Given the description of an element on the screen output the (x, y) to click on. 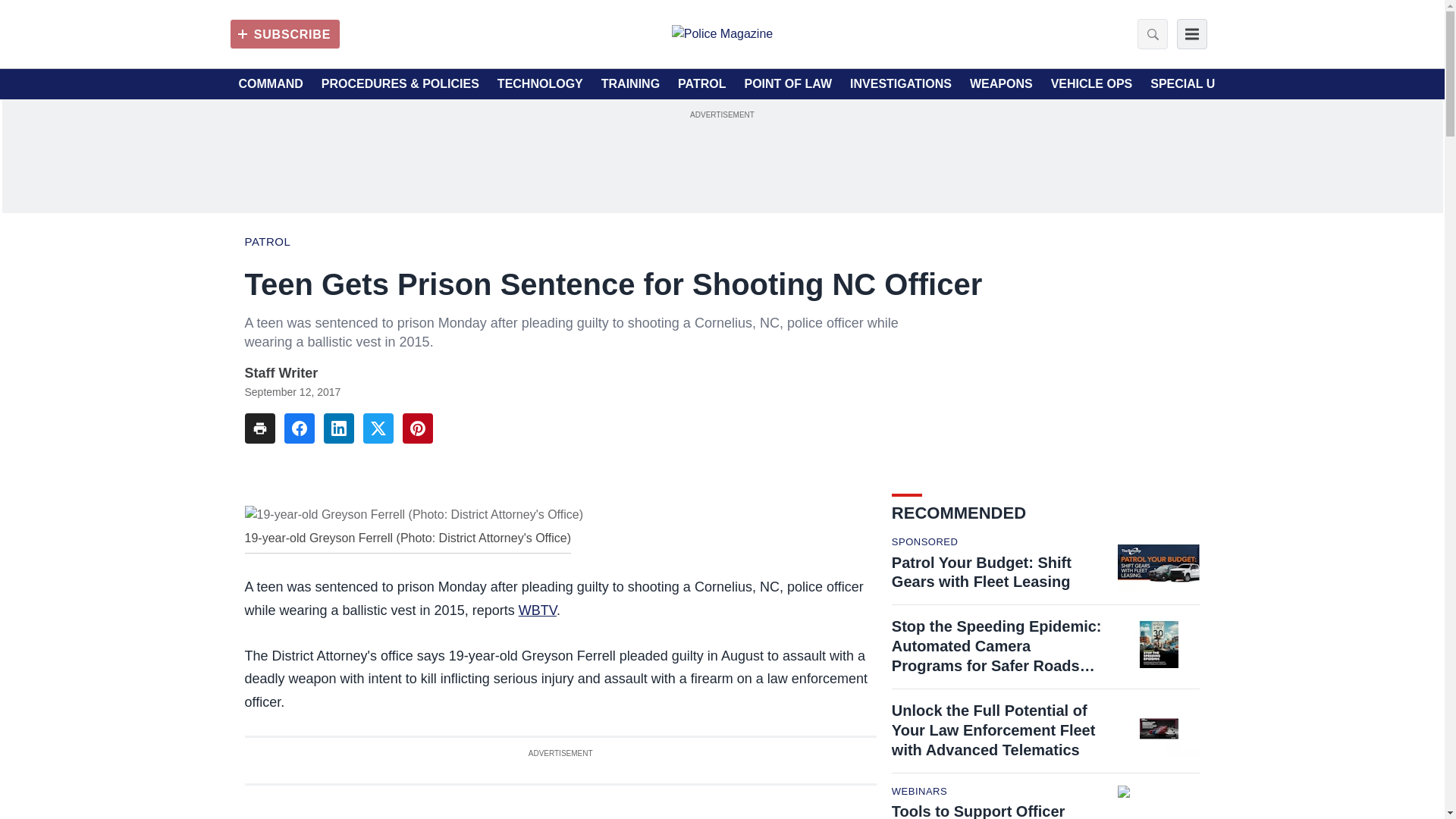
Share To linkedin (338, 428)
Share To print (259, 428)
Sponsored (924, 542)
TECHNOLOGY (540, 84)
DIRECTORY (1296, 84)
PATROL (701, 84)
WEAPONS (1000, 84)
SPECIAL UNITS (1196, 84)
Share To facebook (298, 428)
TRAINING (630, 84)
Share To pinterest (416, 428)
Search (1147, 33)
POINT OF LAW (787, 84)
COMMAND (270, 84)
VEHICLE OPS (1091, 84)
